Given the description of an element on the screen output the (x, y) to click on. 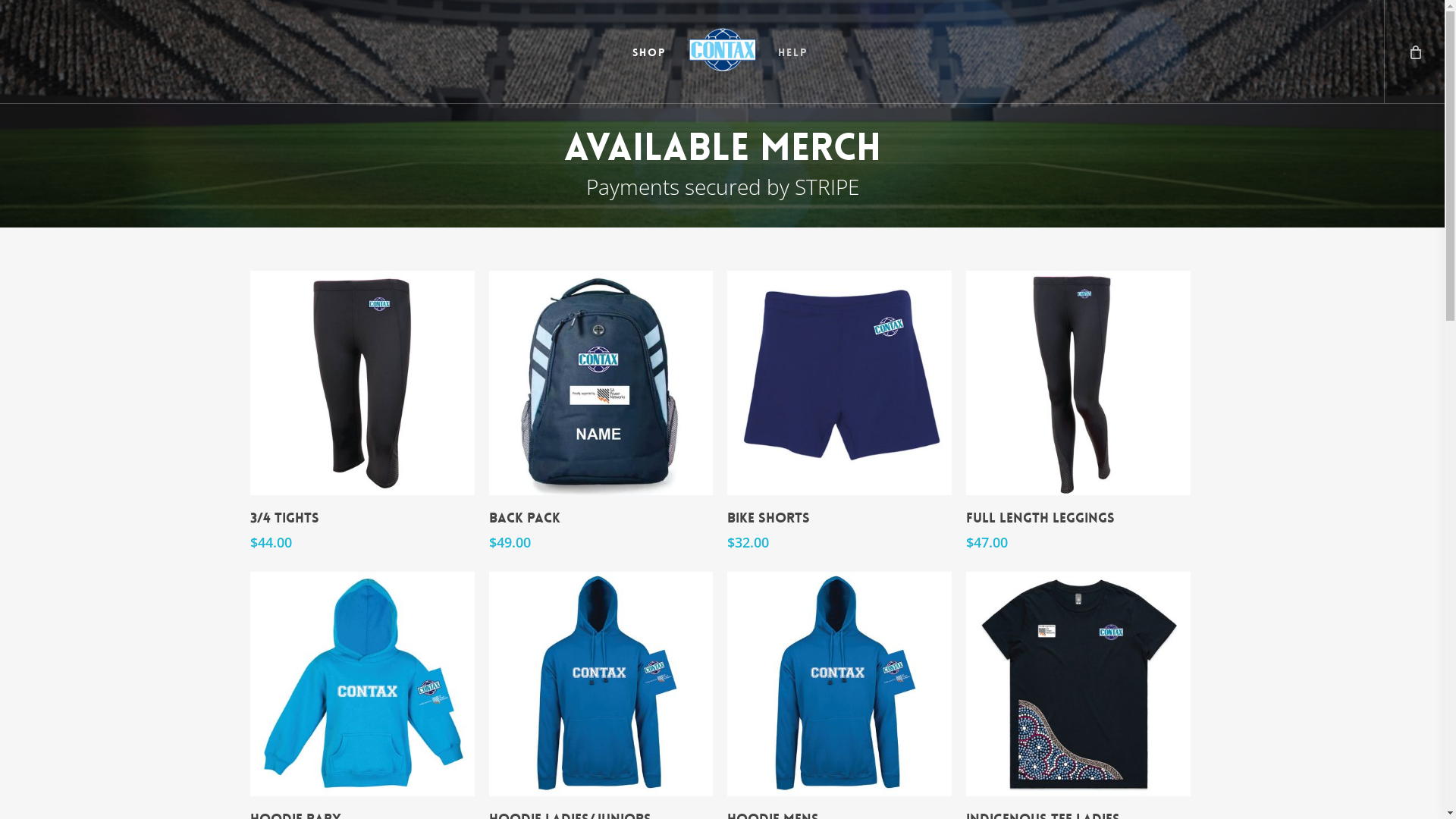
Help Element type: text (792, 51)
Shop Element type: text (648, 51)
